Given the description of an element on the screen output the (x, y) to click on. 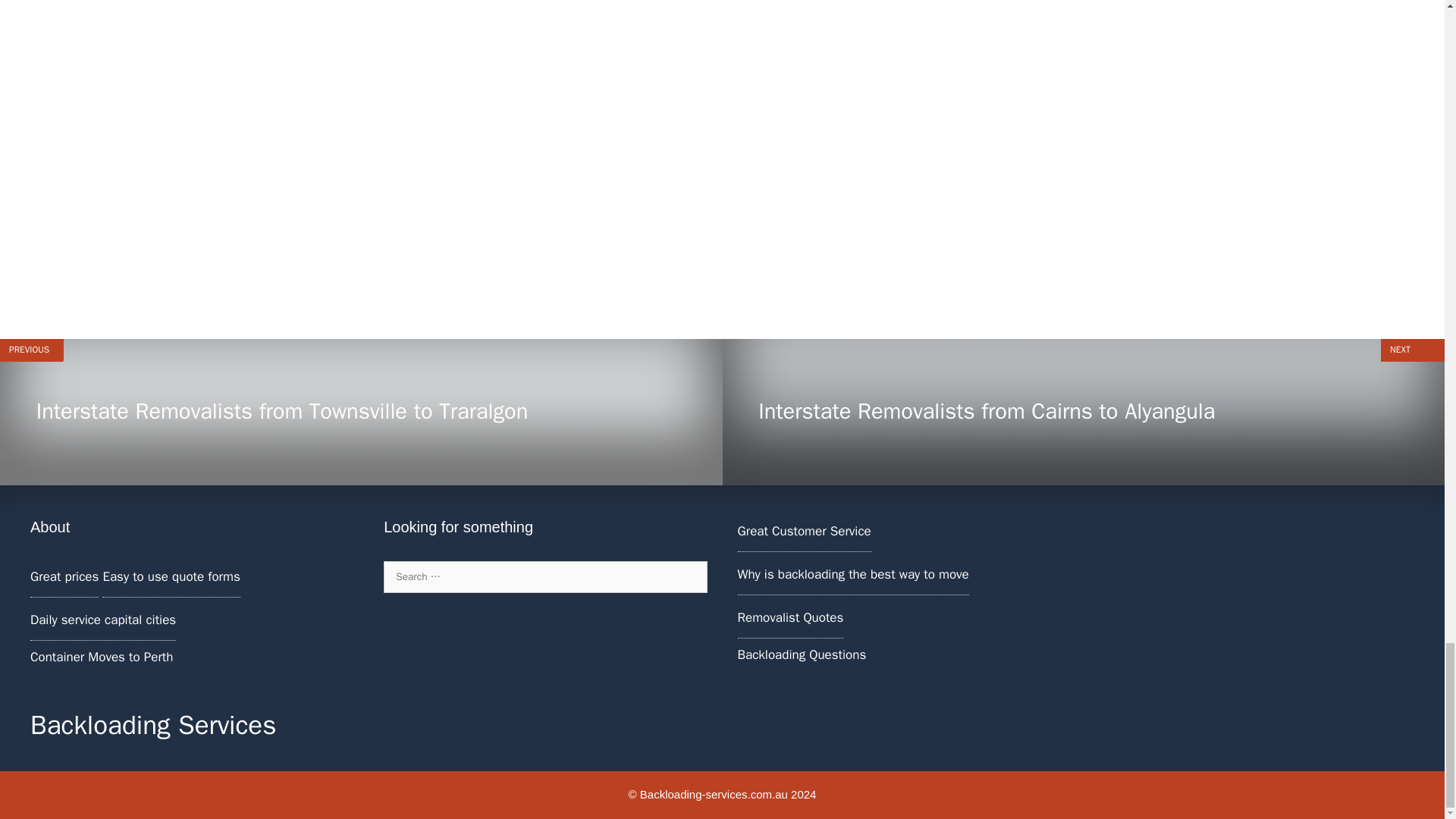
Great Customer Service (803, 530)
Backloading Questions (801, 654)
Why is backloading the best way to move (852, 574)
Removalist Quotes (789, 617)
Search for: (545, 576)
